Given the description of an element on the screen output the (x, y) to click on. 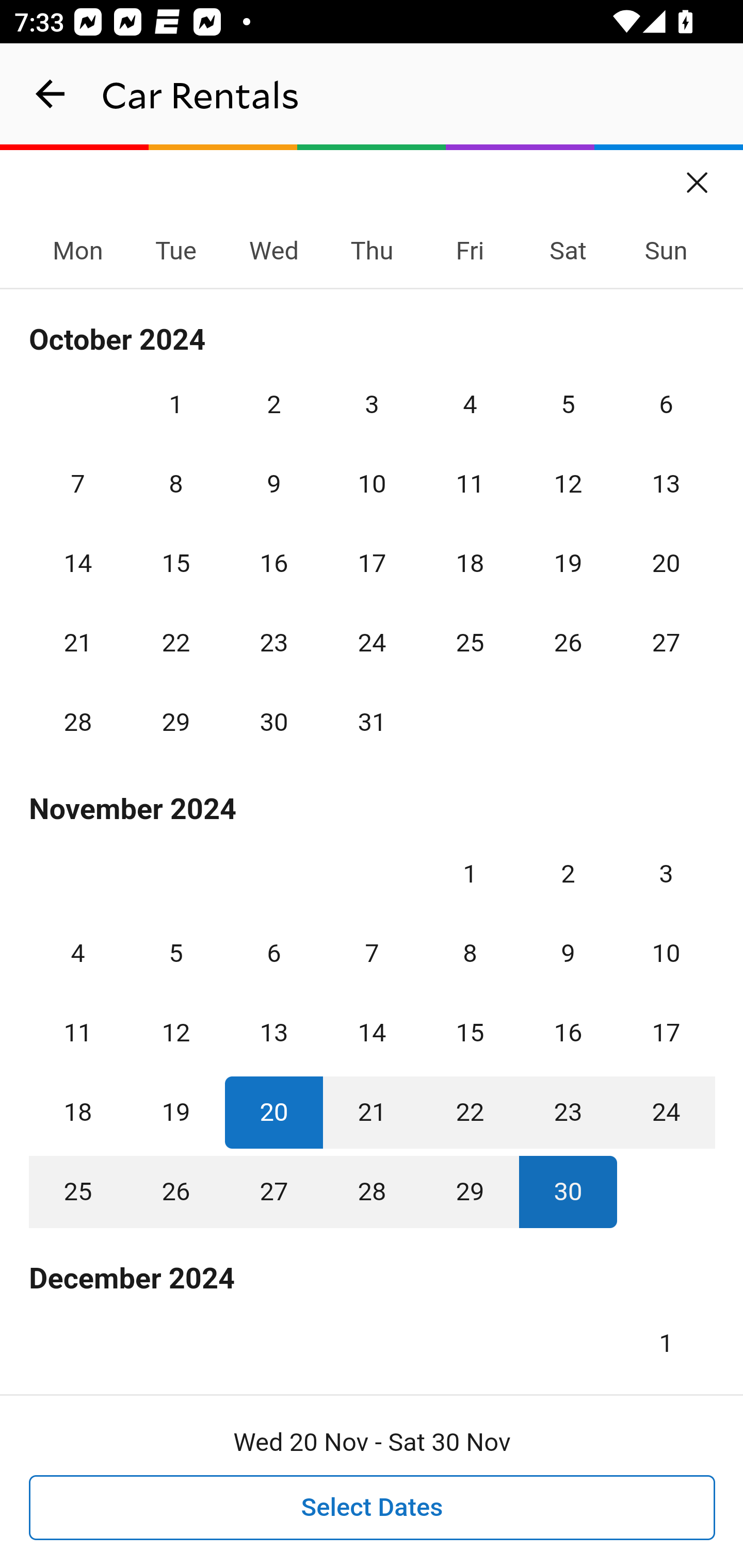
navigation_button (50, 93)
Close (697, 176)
1 October 2024 (175, 404)
2 October 2024 (273, 404)
3 October 2024 (371, 404)
4 October 2024 (470, 404)
5 October 2024 (567, 404)
6 October 2024 (665, 404)
7 October 2024 (77, 484)
8 October 2024 (175, 484)
9 October 2024 (273, 484)
10 October 2024 (371, 484)
11 October 2024 (470, 484)
12 October 2024 (567, 484)
13 October 2024 (665, 484)
14 October 2024 (77, 563)
15 October 2024 (175, 563)
16 October 2024 (273, 563)
17 October 2024 (371, 563)
18 October 2024 (470, 563)
19 October 2024 (567, 563)
20 October 2024 (665, 563)
21 October 2024 (77, 642)
22 October 2024 (175, 642)
23 October 2024 (273, 642)
24 October 2024 (371, 642)
25 October 2024 (470, 642)
26 October 2024 (567, 642)
27 October 2024 (665, 642)
28 October 2024 (77, 722)
29 October 2024 (175, 722)
30 October 2024 (273, 722)
31 October 2024 (371, 722)
1 November 2024 (470, 873)
2 November 2024 (567, 873)
3 November 2024 (665, 873)
4 November 2024 (77, 952)
5 November 2024 (175, 952)
6 November 2024 (273, 952)
7 November 2024 (371, 952)
8 November 2024 (470, 952)
9 November 2024 (567, 952)
10 November 2024 (665, 952)
11 November 2024 (77, 1032)
12 November 2024 (175, 1032)
13 November 2024 (273, 1032)
14 November 2024 (371, 1032)
15 November 2024 (470, 1032)
16 November 2024 (567, 1032)
17 November 2024 (665, 1032)
